Given the description of an element on the screen output the (x, y) to click on. 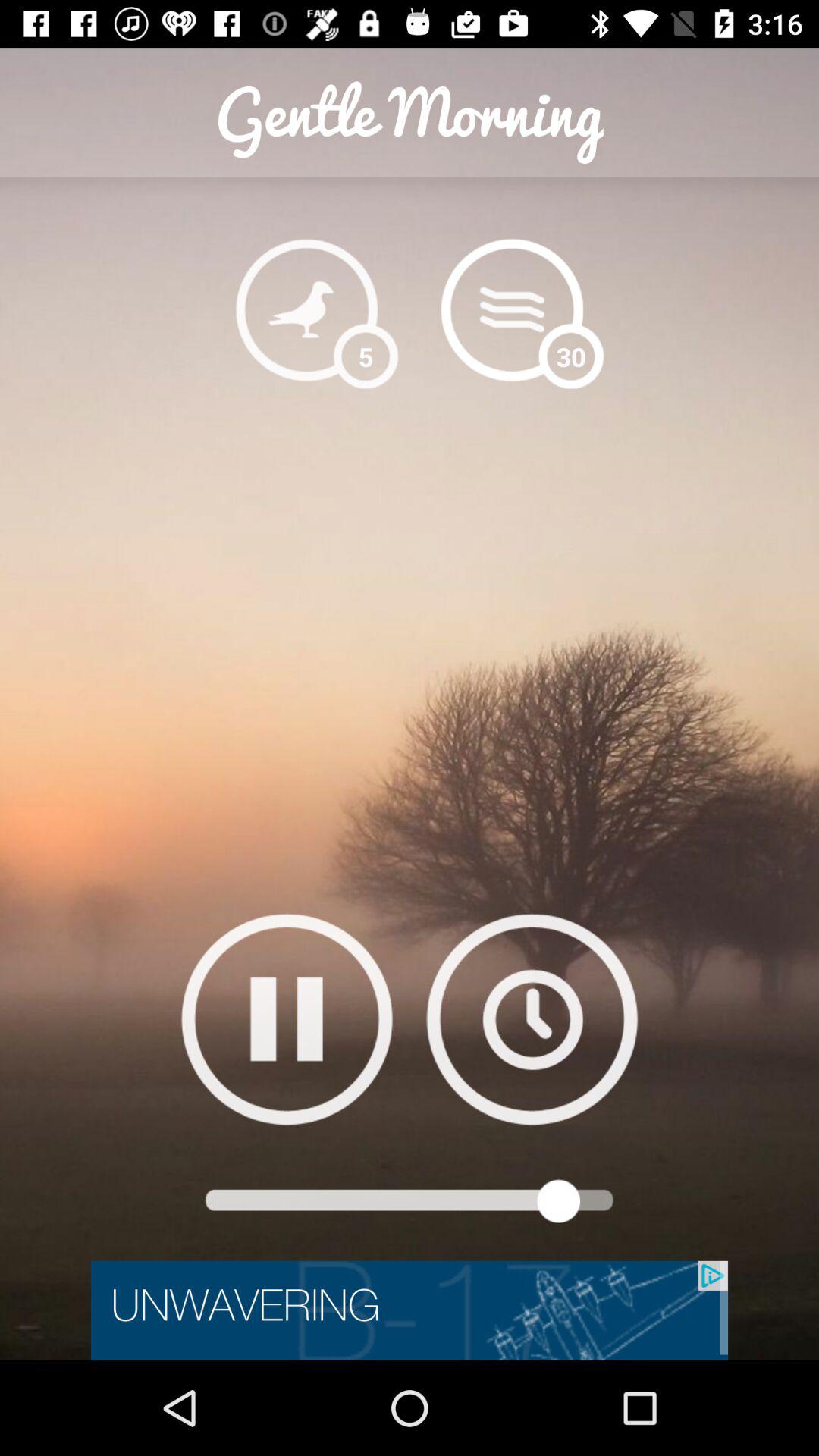
click on advertisement (409, 1310)
